Given the description of an element on the screen output the (x, y) to click on. 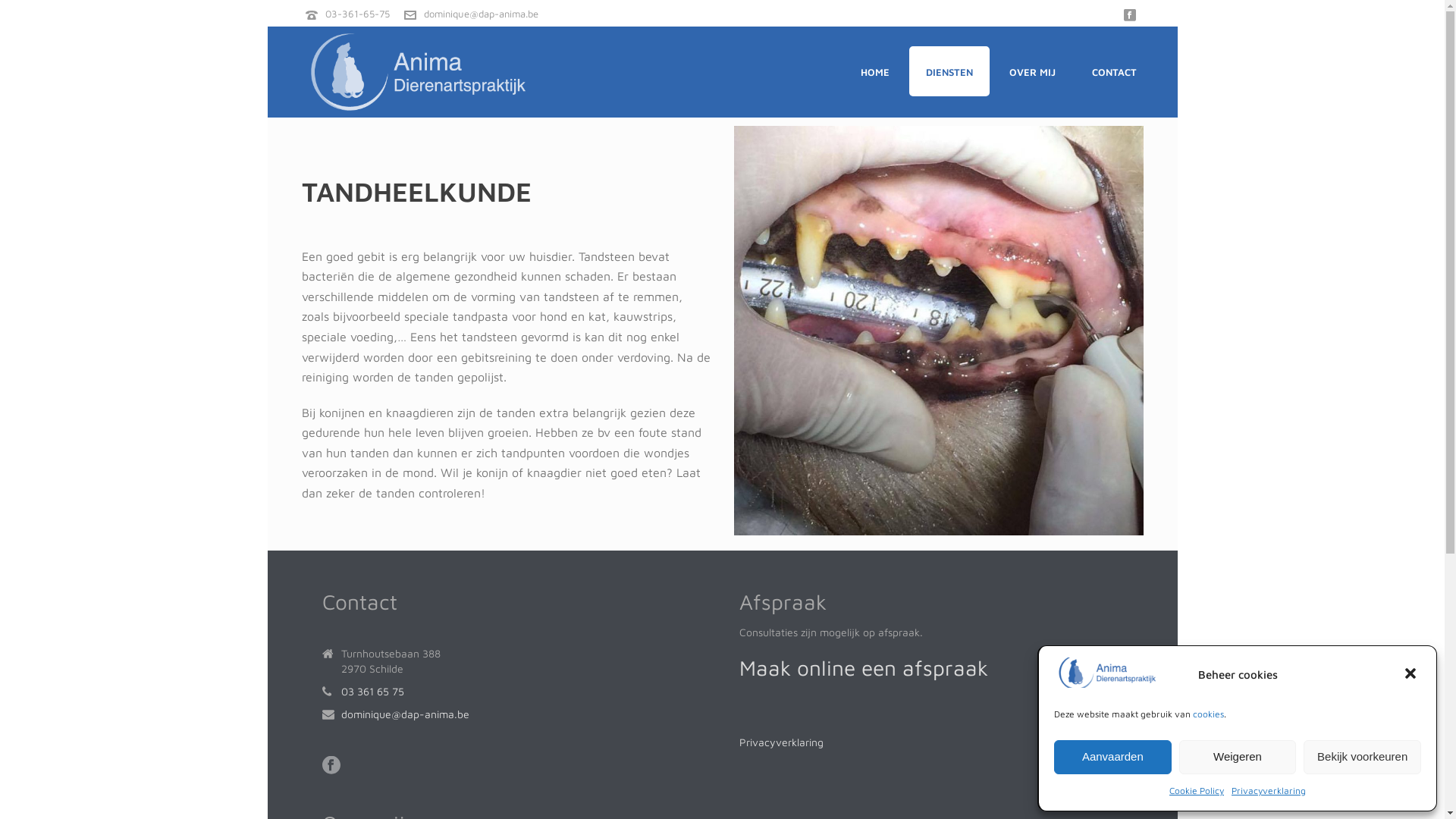
Bekijk voorkeuren Element type: text (1362, 757)
Privacyverklaring Element type: text (780, 741)
OVER MIJ Element type: text (1031, 71)
tandheelkunde Element type: hover (938, 330)
CONTACT Element type: text (1114, 71)
DIENSTEN Element type: text (948, 71)
dominique@dap-anima.be Element type: text (405, 714)
03 361 65 75 Element type: text (372, 691)
Privacyverklaring Element type: text (1268, 790)
HOME Element type: text (874, 71)
Aanvaarden Element type: text (1112, 757)
dominique@dap-anima.be Element type: text (480, 13)
Maak online een afspraak Element type: text (862, 671)
Weigeren Element type: text (1237, 757)
 facebook Element type: hover (330, 765)
cookies Element type: text (1207, 713)
Cookie Policy Element type: text (1196, 790)
03-361-65-75 Element type: text (356, 13)
